Given the description of an element on the screen output the (x, y) to click on. 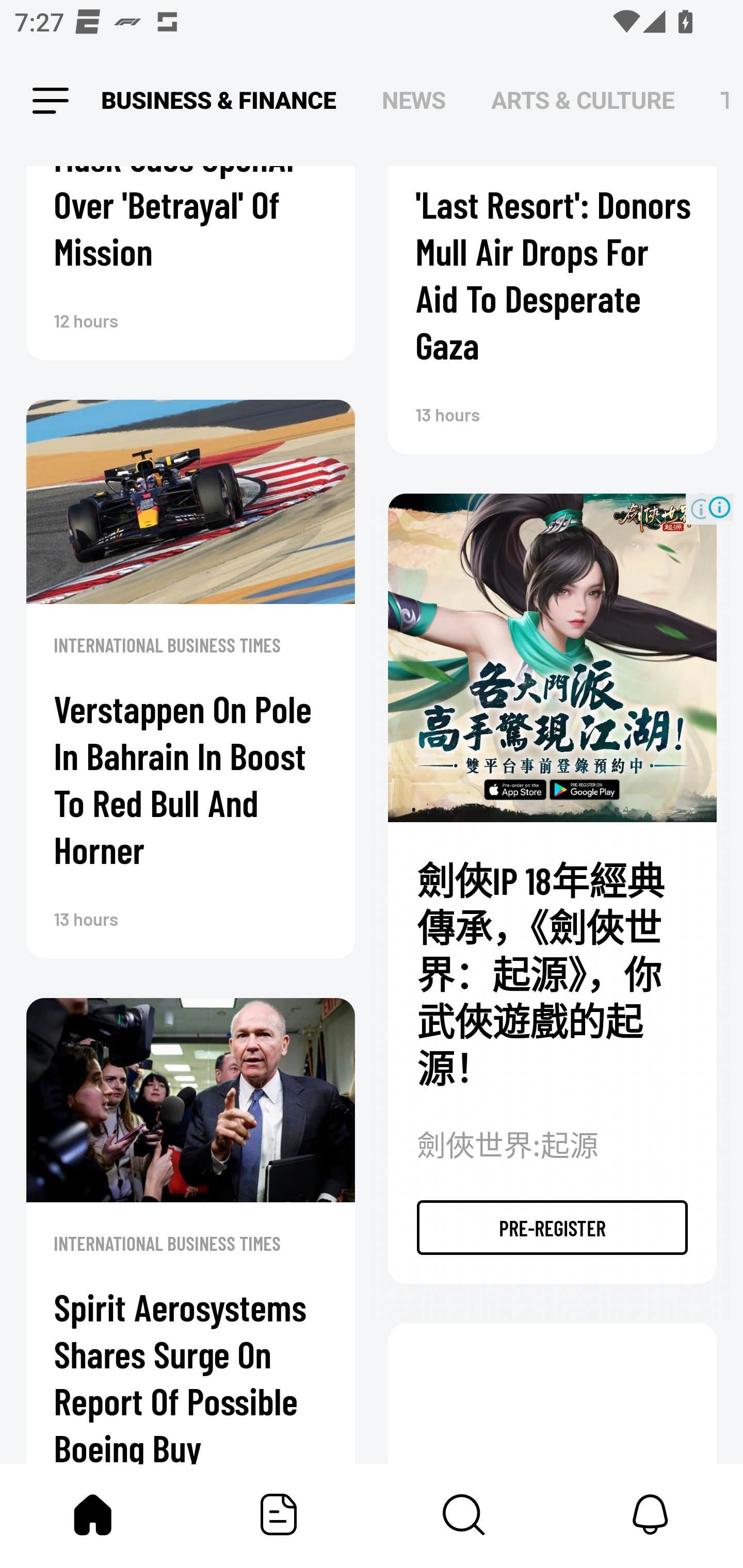
Leading Icon (50, 101)
NEWS (413, 100)
ARTS & CULTURE (582, 100)
Ad Choices Icon (719, 506)
Featured (278, 1514)
Content Store (464, 1514)
Notifications (650, 1514)
